Given the description of an element on the screen output the (x, y) to click on. 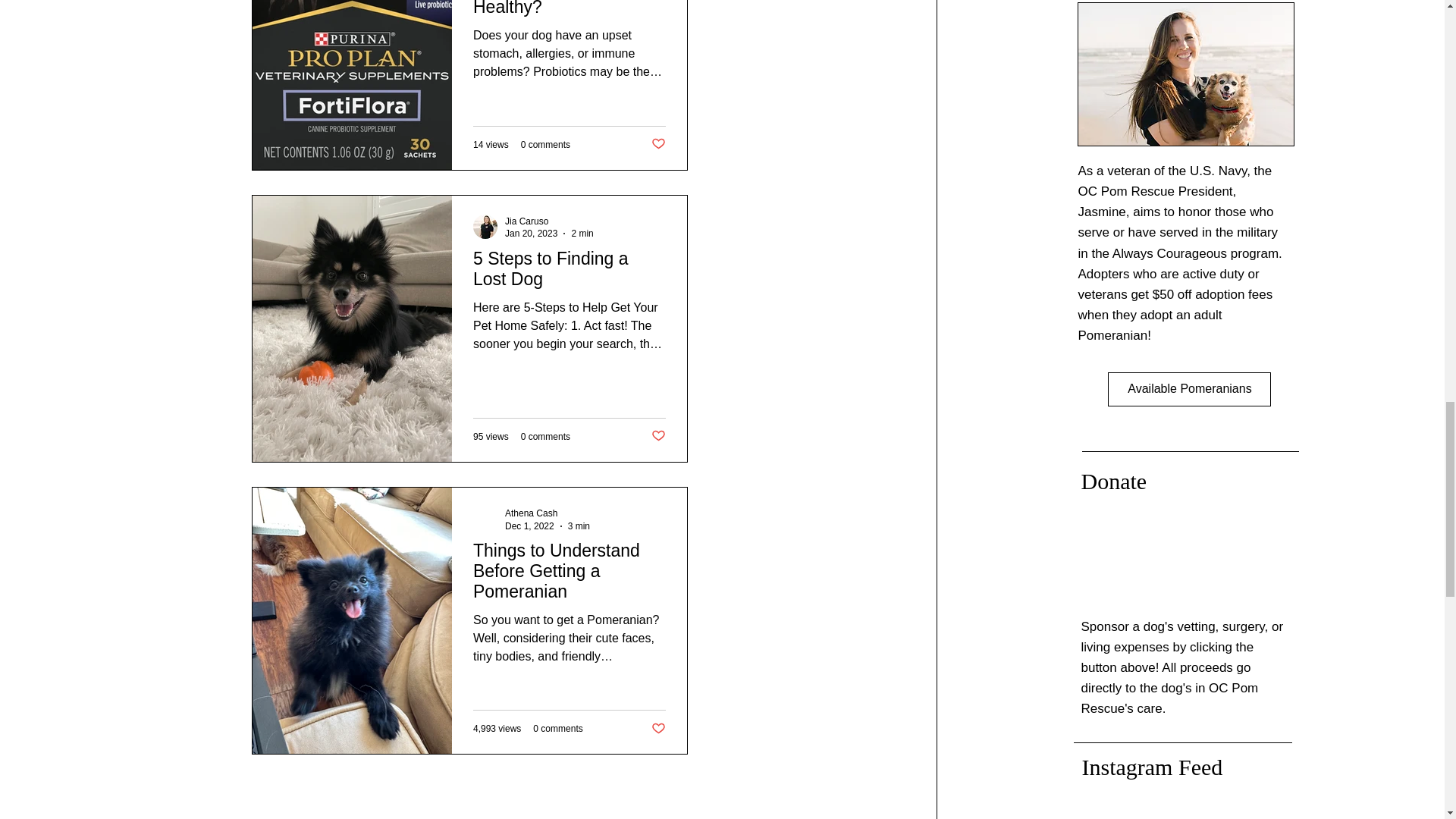
Post not marked as liked (657, 729)
Does my Dog Need to Take Probiotics to be Healthy? (569, 13)
Post not marked as liked (657, 436)
Jan 20, 2023 (531, 233)
3 min (578, 525)
Jia Caruso (526, 221)
Dec 1, 2022 (529, 525)
0 comments (545, 436)
5 Steps to Finding a Lost Dog (569, 273)
0 comments (557, 728)
0 comments (545, 144)
Athena Cash (531, 512)
Post not marked as liked (657, 144)
Things to Understand Before Getting a Pomeranian (569, 575)
2 min (581, 233)
